Given the description of an element on the screen output the (x, y) to click on. 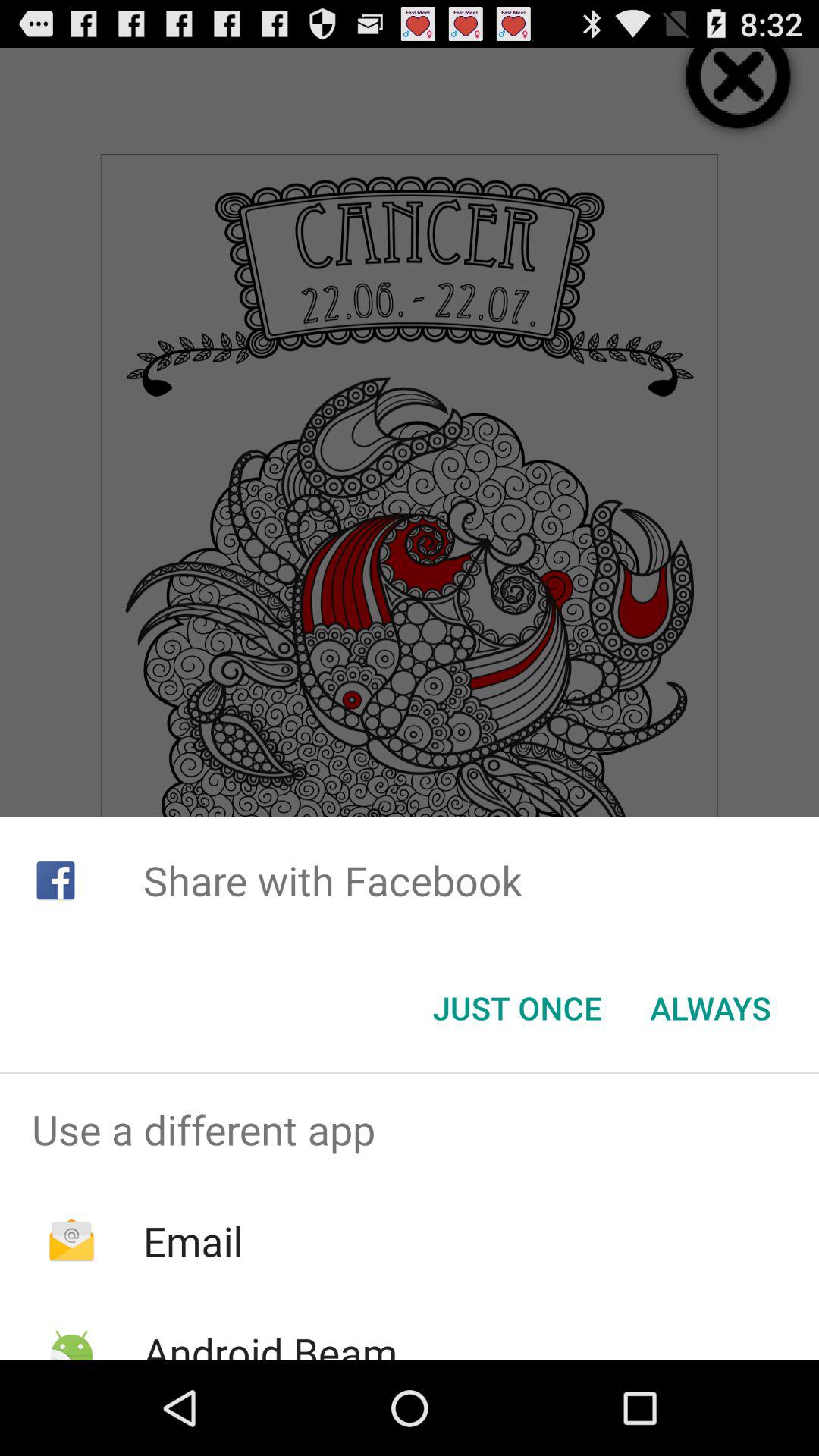
click the icon below the share with facebook (517, 1007)
